Given the description of an element on the screen output the (x, y) to click on. 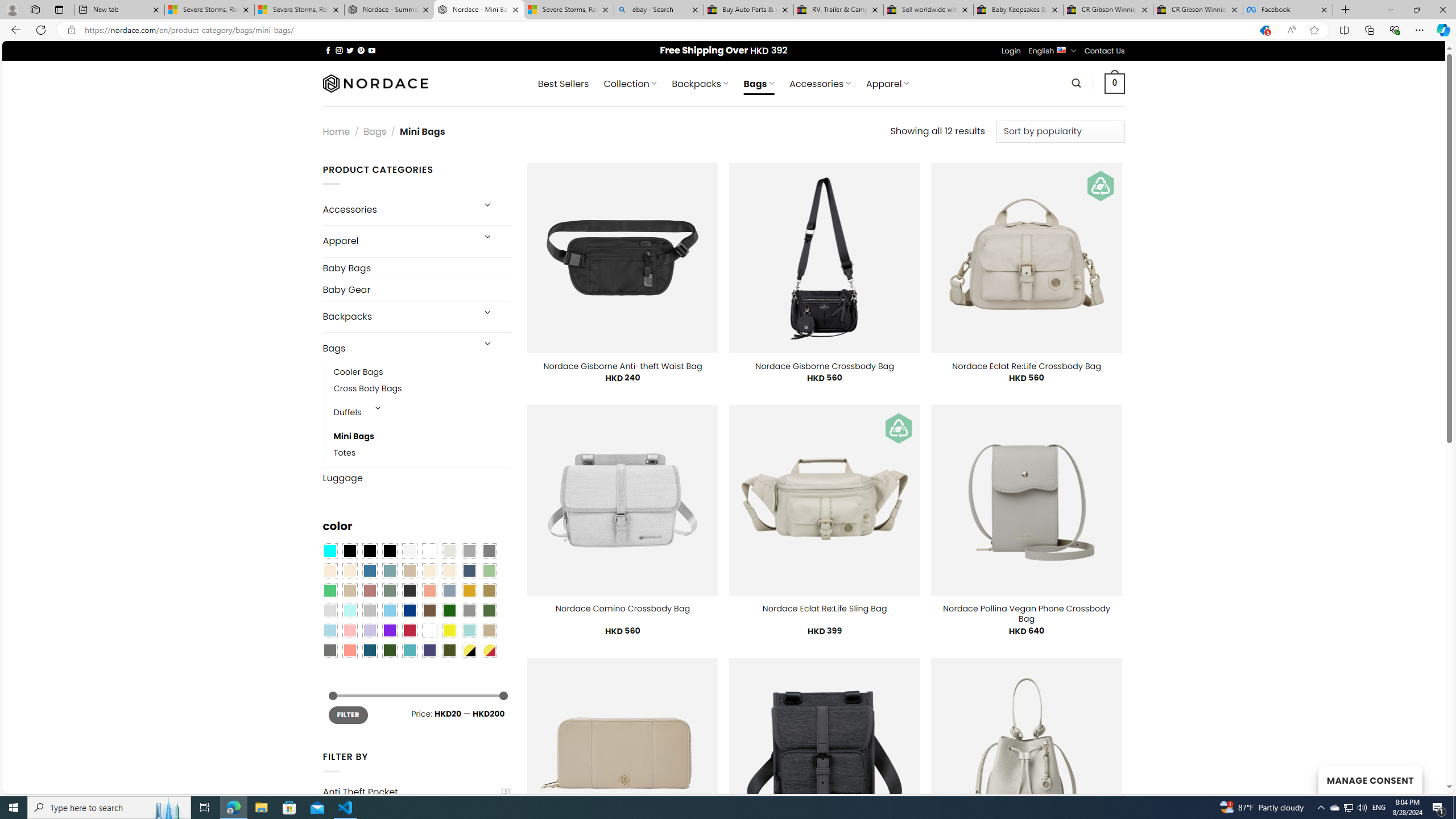
Cross Body Bags (367, 388)
Home (335, 131)
Aqua Blue (329, 550)
Charcoal (408, 590)
Duffels (347, 412)
Baby Gear (416, 289)
Green (488, 610)
Blue Sage (389, 570)
Totes (344, 452)
Nordace Gisborne Anti-theft Waist Bag (622, 365)
ebay - Search (658, 9)
Peach Pink (349, 649)
